Given the description of an element on the screen output the (x, y) to click on. 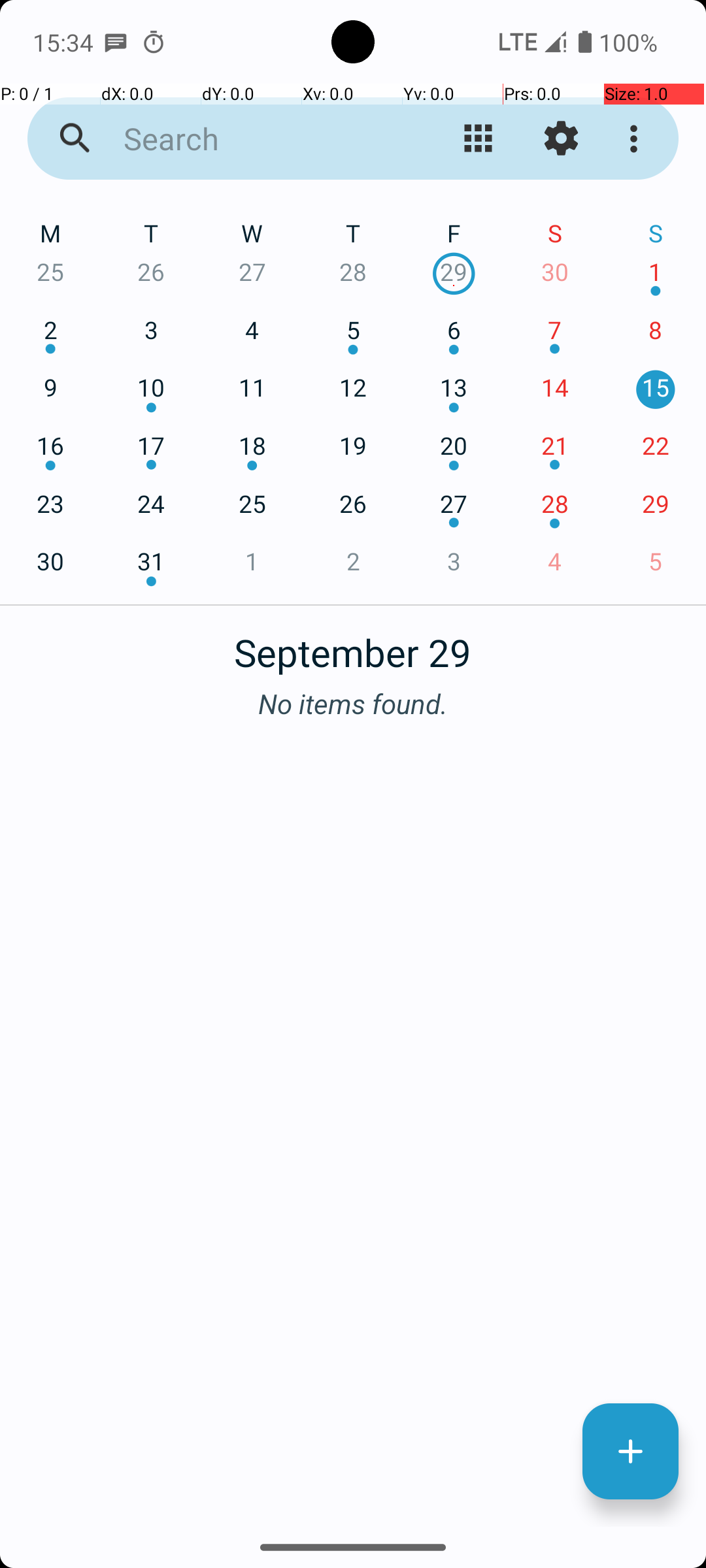
September 29 Element type: android.widget.TextView (352, 644)
SMS Messenger notification: +15785288010 Element type: android.widget.ImageView (115, 41)
